Given the description of an element on the screen output the (x, y) to click on. 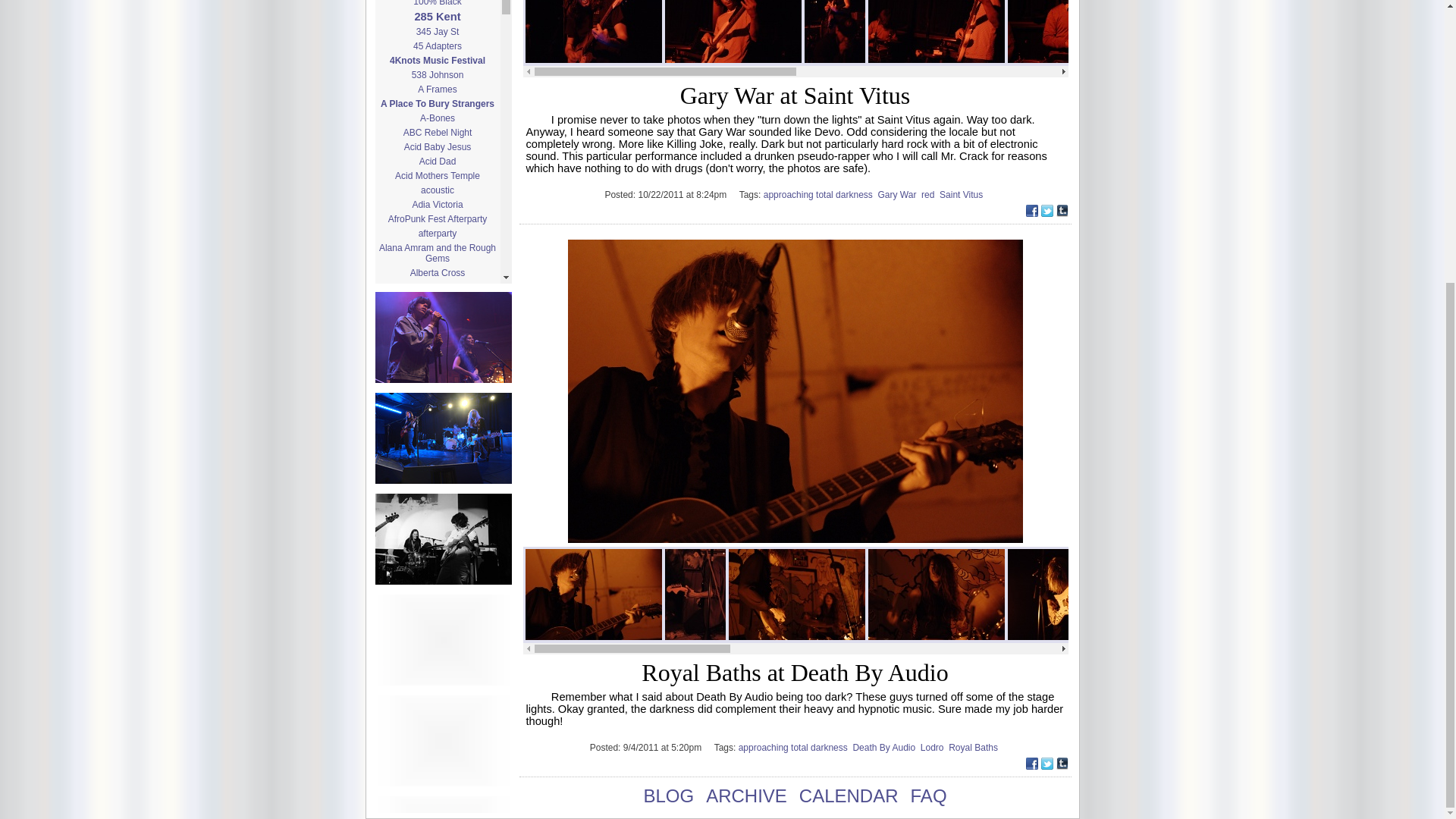
Share on Tumblr (1061, 765)
Share on Facebook (1030, 212)
Algiers (436, 355)
A Frames (436, 89)
Share on Facebook (1030, 765)
album review (436, 301)
announcement (436, 467)
45 Adapters (436, 46)
Amanda X (436, 395)
AfroPunk Fest Afterparty (436, 219)
Share on Twitter (1046, 212)
Amour Obscur (436, 409)
Share on Twitter (1046, 765)
Alberta Cross (436, 273)
Andy Animal (436, 452)
